Given the description of an element on the screen output the (x, y) to click on. 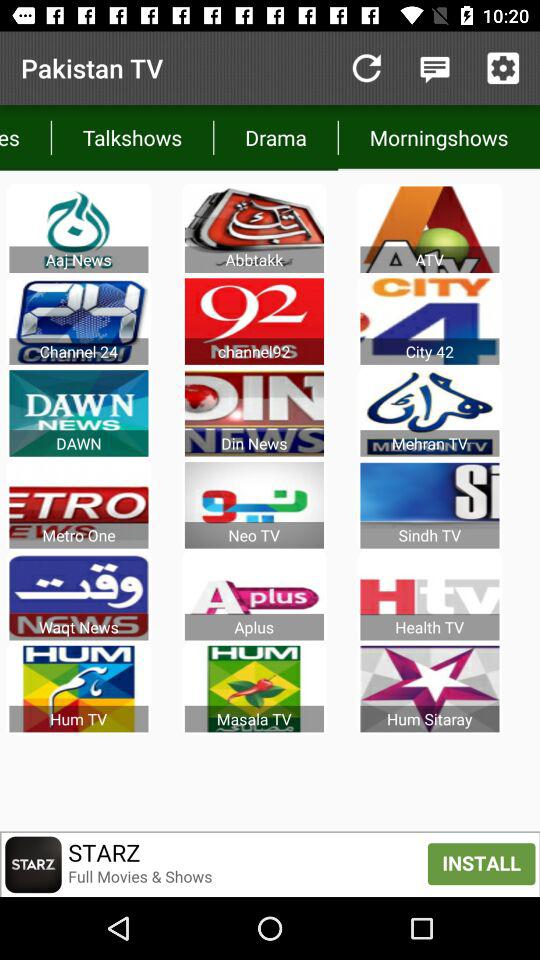
inbox (434, 67)
